Given the description of an element on the screen output the (x, y) to click on. 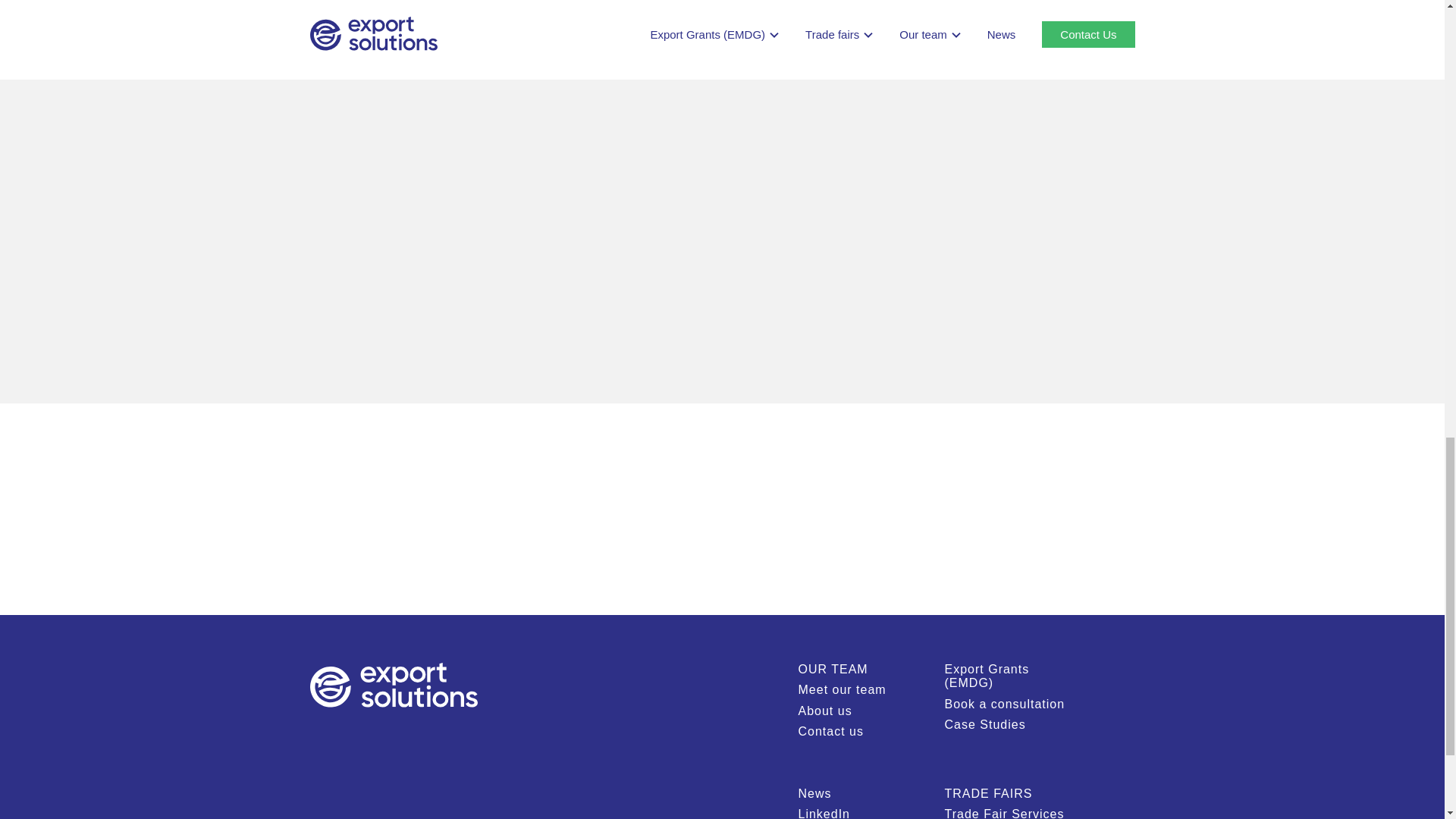
Share on Facebook (396, 9)
Share on Twitter (358, 8)
Share on LinkedIn (319, 9)
